Given the description of an element on the screen output the (x, y) to click on. 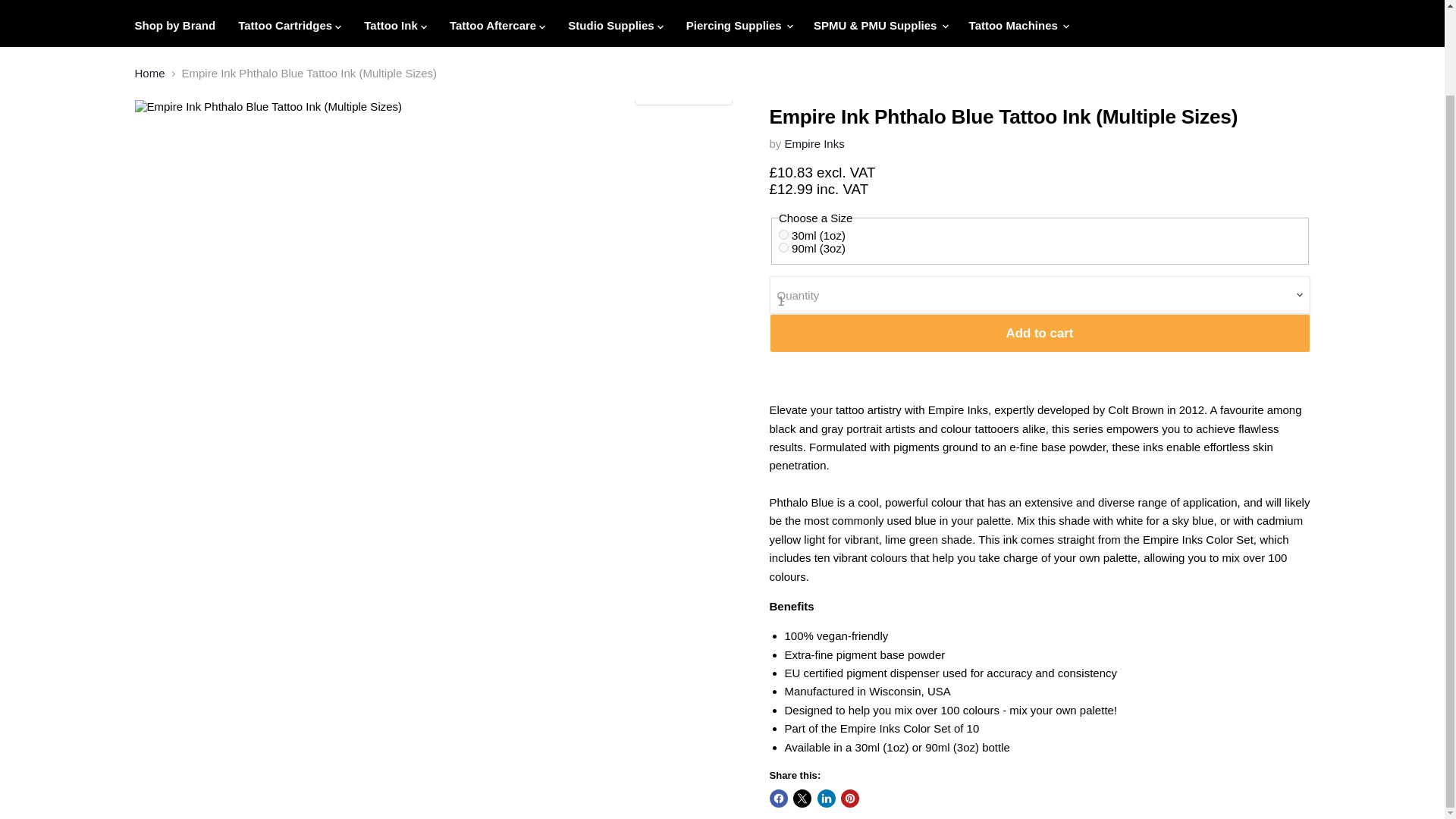
Shop by Brand (174, 24)
Empire Inks (814, 143)
